Given the description of an element on the screen output the (x, y) to click on. 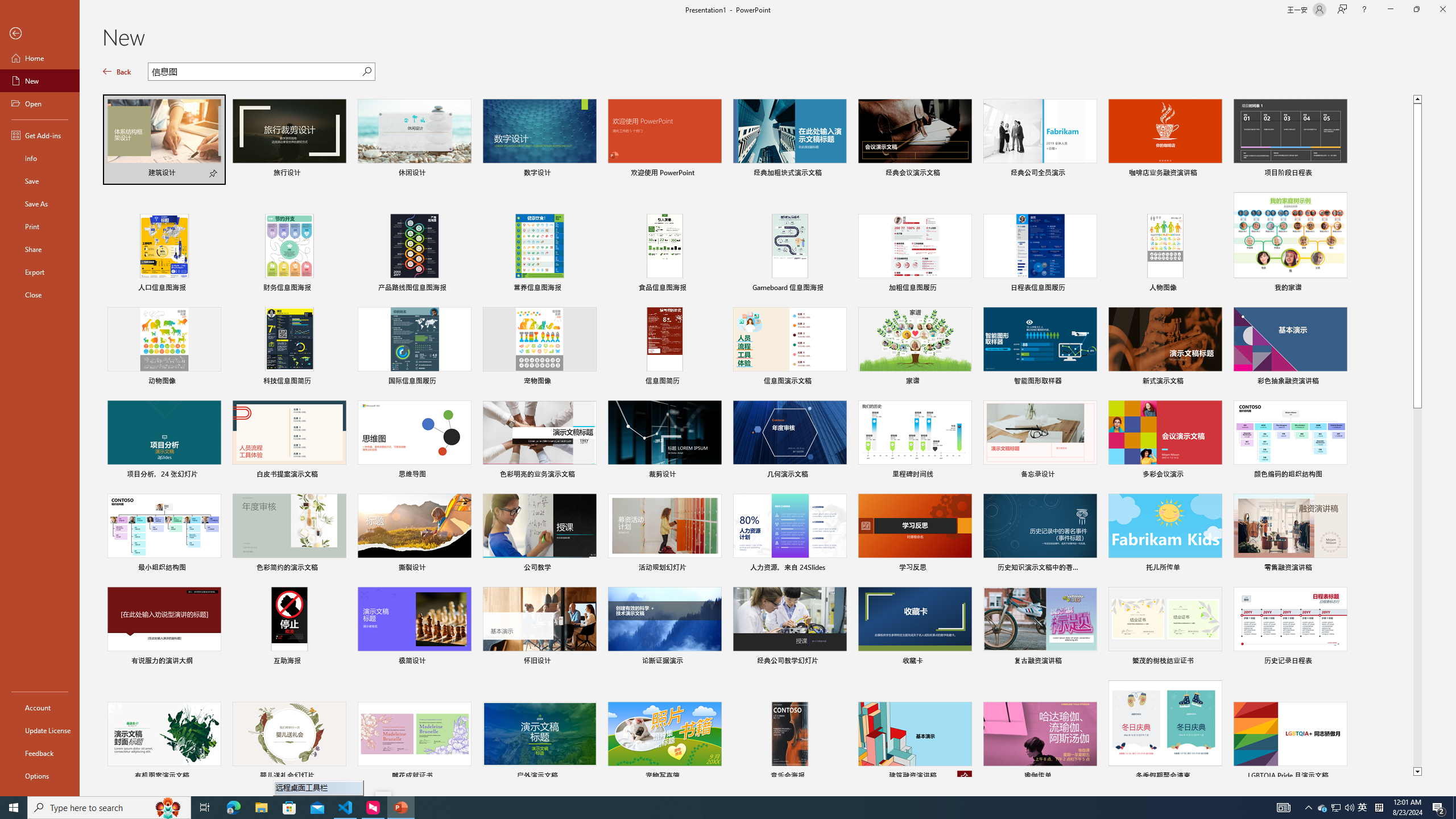
Back (117, 71)
Options (40, 775)
